Given the description of an element on the screen output the (x, y) to click on. 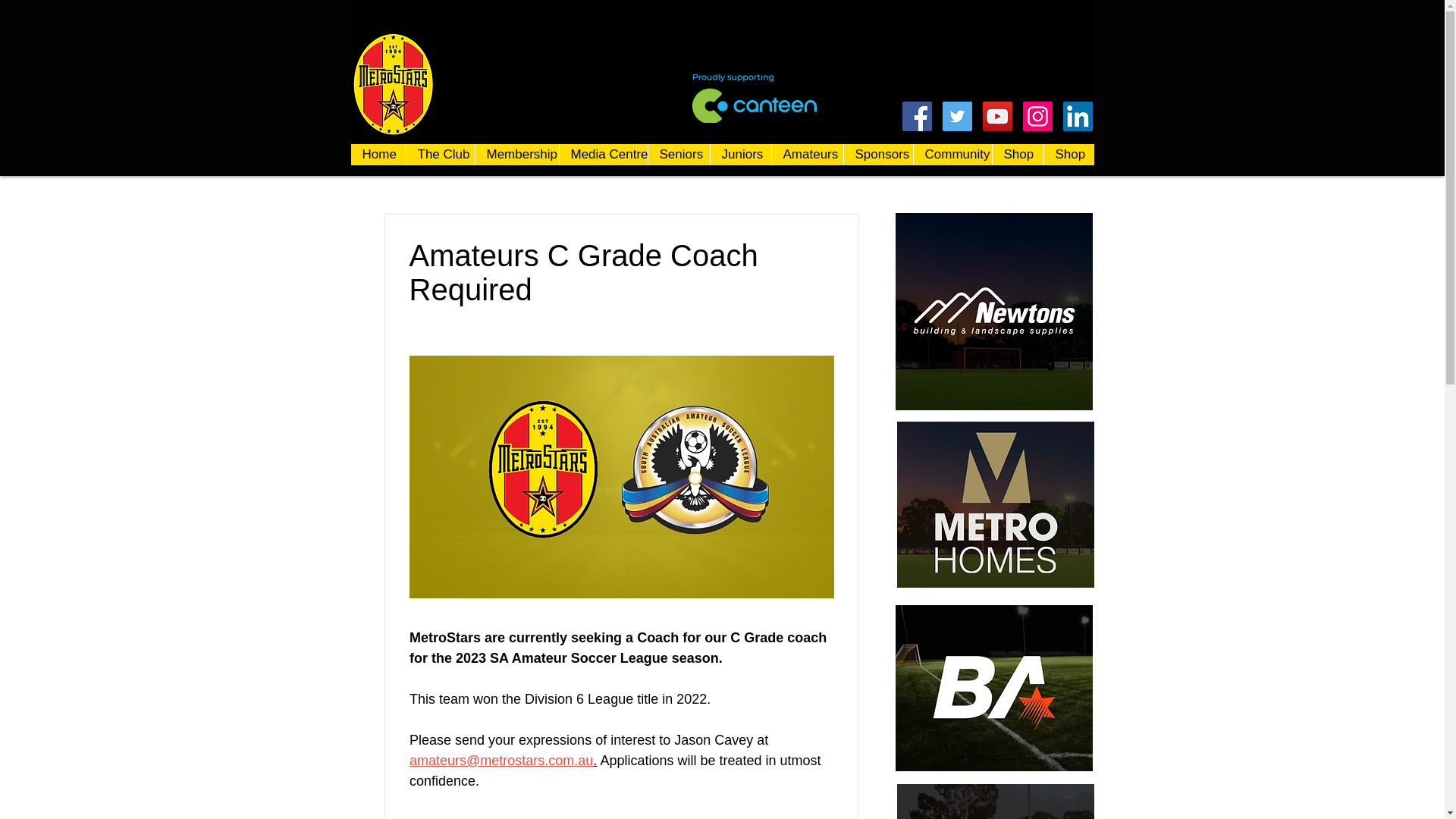
Membership (516, 154)
Seniors (678, 154)
The Club (439, 154)
Juniors (740, 154)
Media Centre (601, 154)
Home (377, 154)
